Given the description of an element on the screen output the (x, y) to click on. 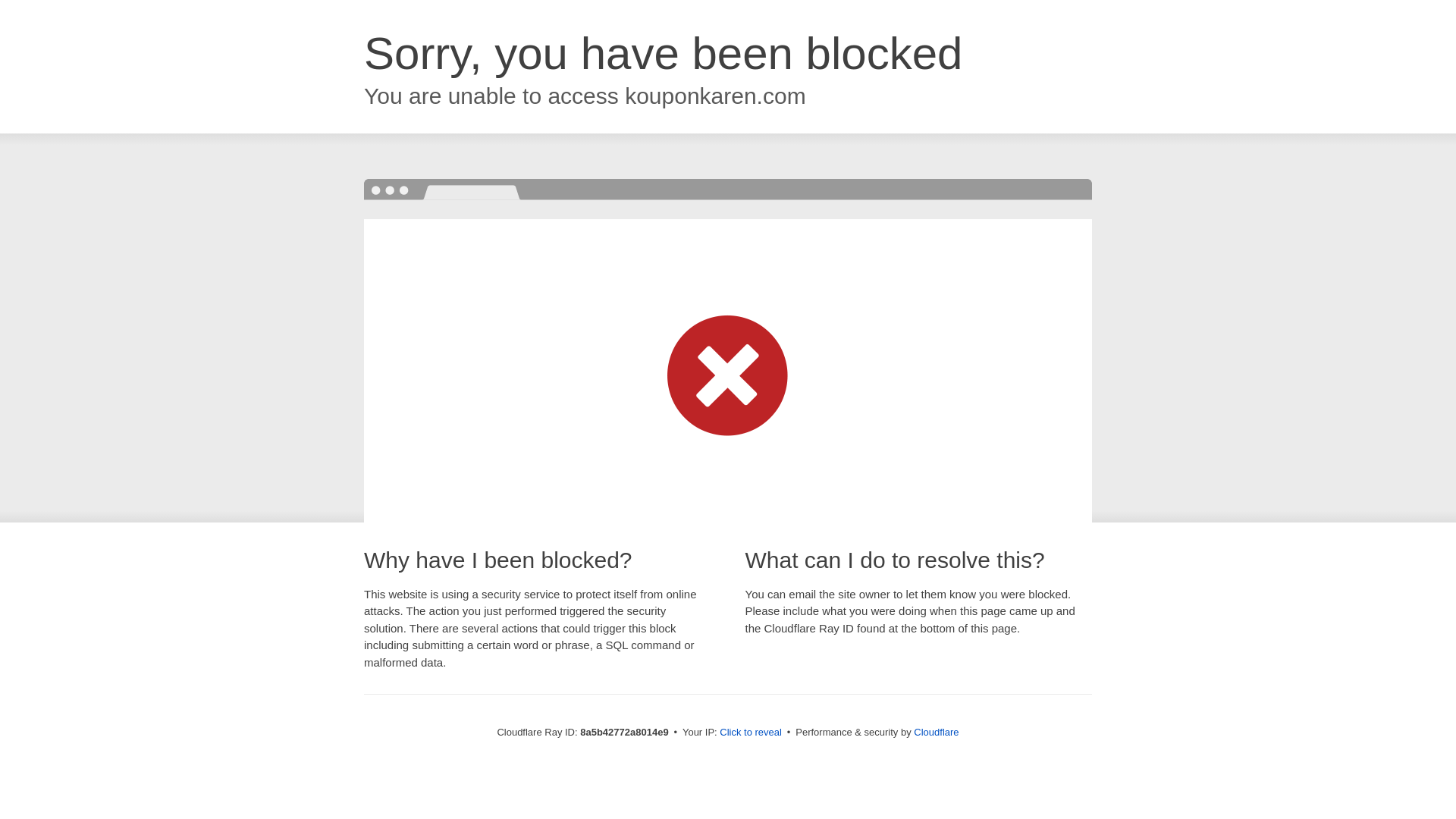
Cloudflare (936, 731)
Click to reveal (750, 732)
